Given the description of an element on the screen output the (x, y) to click on. 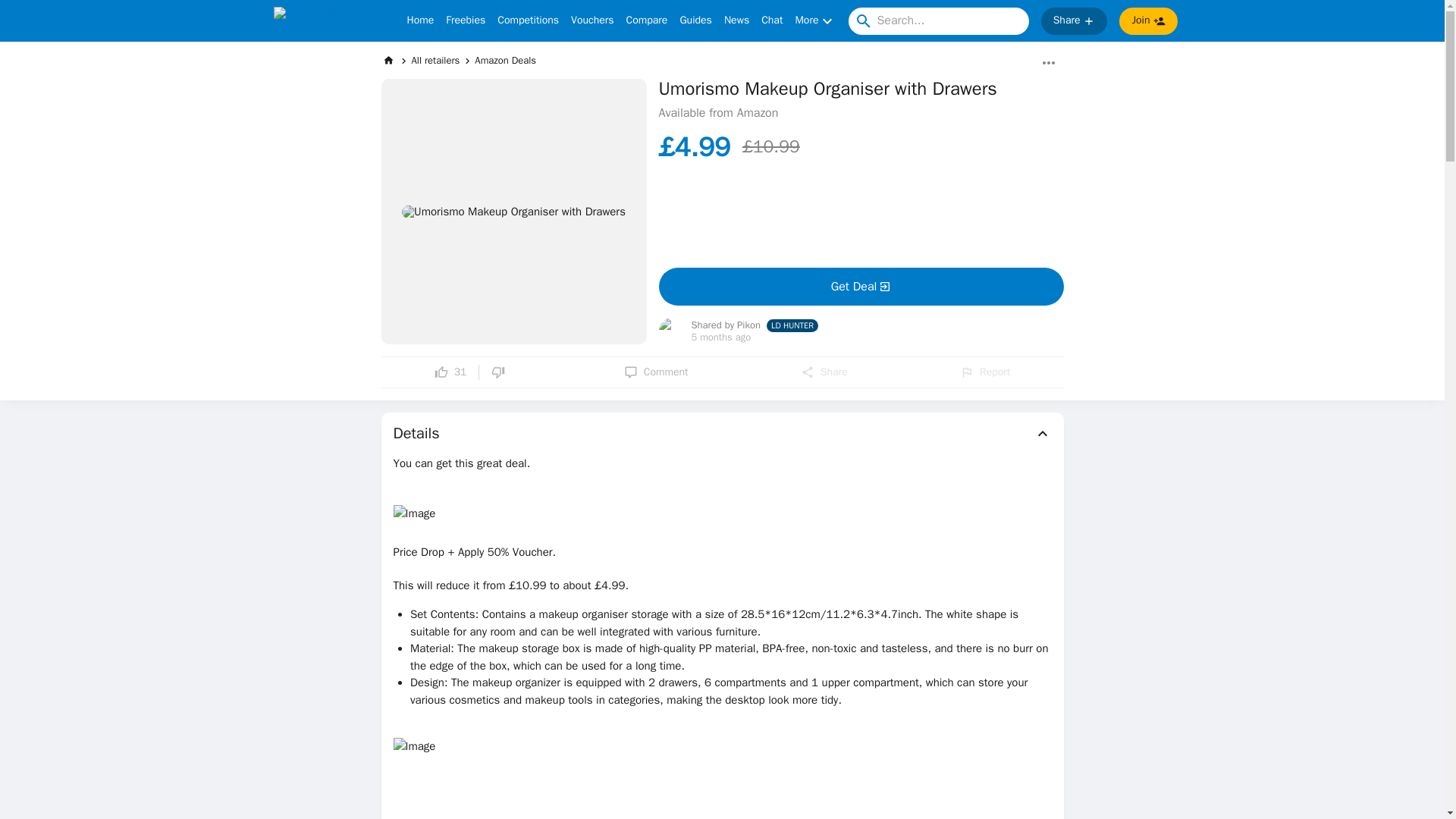
Competitions (528, 21)
Share (1074, 21)
Join (1147, 21)
Vouchers (591, 21)
Get Deal (860, 286)
Freebies (464, 21)
31 (450, 372)
Amazon Deals (504, 60)
Shared by Pikon (725, 325)
Details (722, 434)
